Given the description of an element on the screen output the (x, y) to click on. 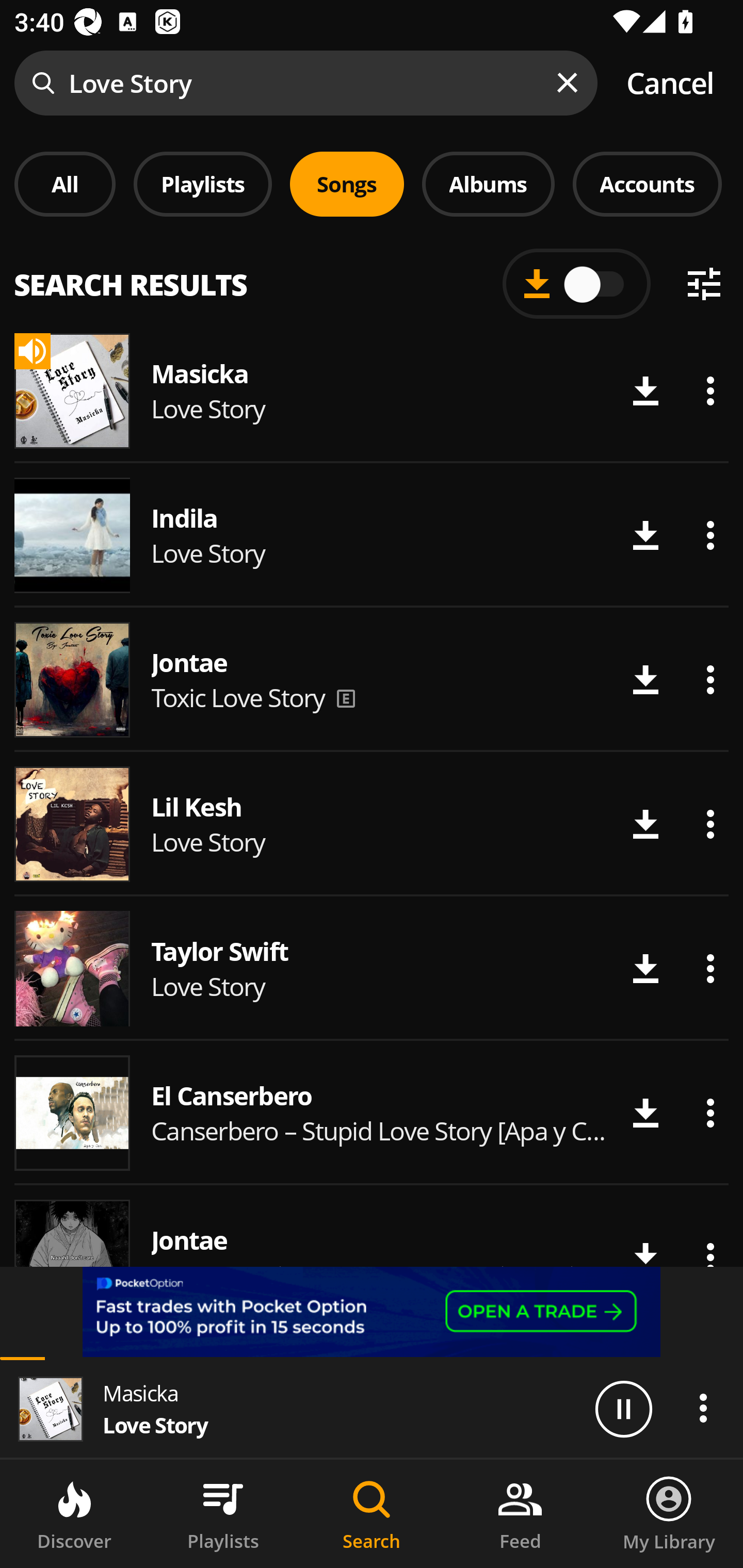
Love Story Cancel (371, 82)
Cancel (670, 82)
All (64, 184)
Playlists (202, 184)
Songs (346, 184)
Albums (488, 184)
Accounts (647, 184)
All Country Afrosounds Pop Caribbean (371, 275)
Pop (529, 288)
Song artwork Masicka Love Story Download Actions (371, 390)
Download (644, 391)
Actions (710, 391)
Song artwork Indila Love Story Download Actions (371, 535)
Download (644, 535)
Actions (710, 535)
Download (644, 679)
Actions (710, 679)
Song artwork Lil Kesh Love Story Download Actions (371, 824)
Download (644, 823)
Actions (710, 823)
Download (644, 968)
Actions (710, 968)
Download (644, 1113)
Actions (710, 1113)
fsc (371, 1311)
Liftoff Privacy (97, 1339)
Actions (703, 1407)
Play/Pause (623, 1408)
Discover (74, 1513)
Playlists (222, 1513)
Search (371, 1513)
Feed (519, 1513)
My Library (668, 1513)
